Given the description of an element on the screen output the (x, y) to click on. 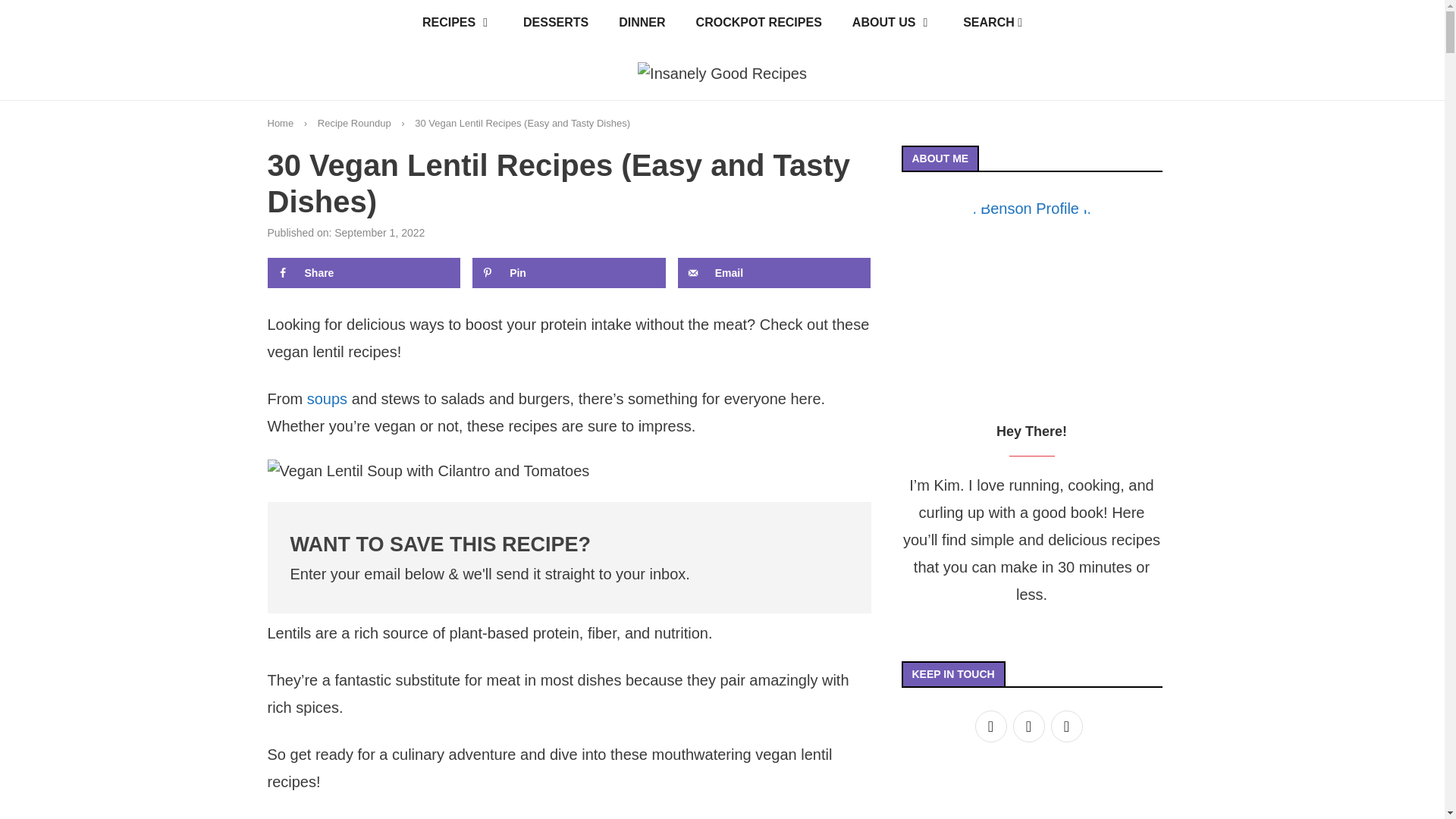
Home (280, 122)
DESSERTS (556, 22)
CROCKPOT RECIPES (759, 22)
DINNER (641, 22)
Email (774, 272)
Share on Facebook (363, 272)
ABOUT US (892, 22)
Pin (568, 272)
Home (280, 122)
RECIPES (457, 22)
